Given the description of an element on the screen output the (x, y) to click on. 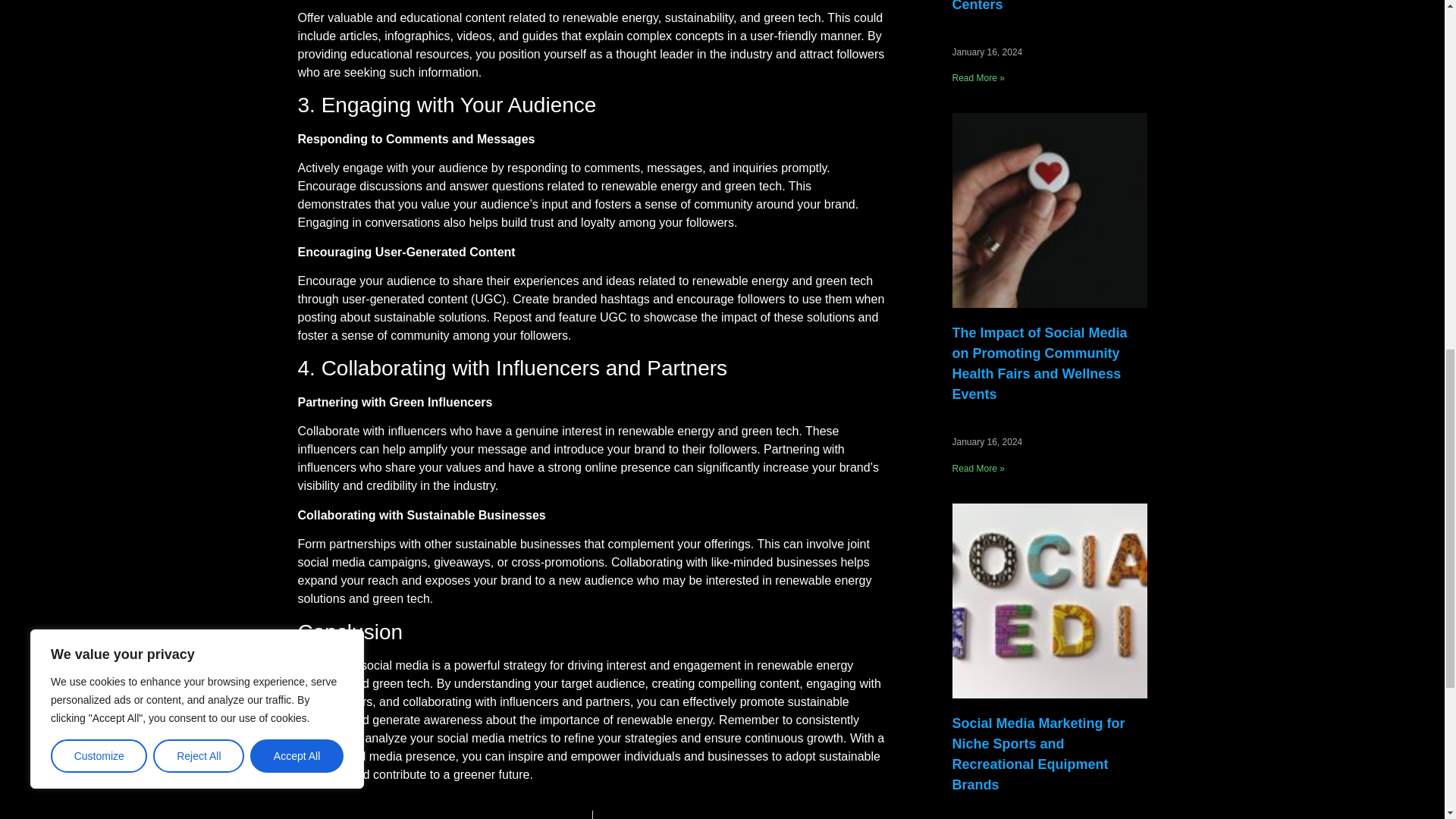
NEXT (740, 814)
PREVIOUS (444, 814)
